Given the description of an element on the screen output the (x, y) to click on. 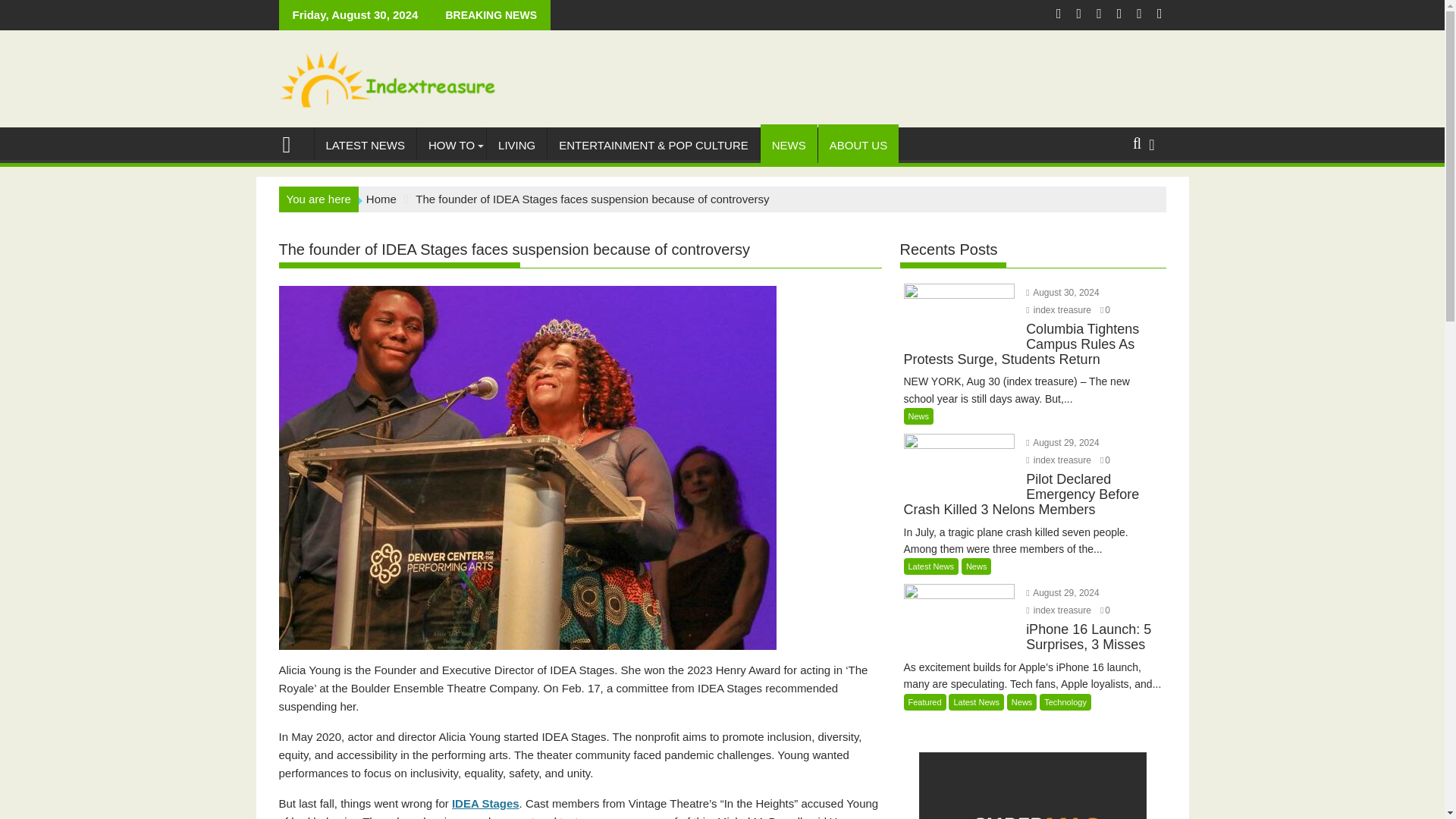
NEWS (788, 145)
August 29, 2024 (1062, 442)
index treasure (1058, 460)
News (919, 416)
index treasure (1058, 610)
index treasure (1058, 460)
index treasure (293, 142)
ABOUT US (858, 145)
LATEST NEWS (364, 145)
